Given the description of an element on the screen output the (x, y) to click on. 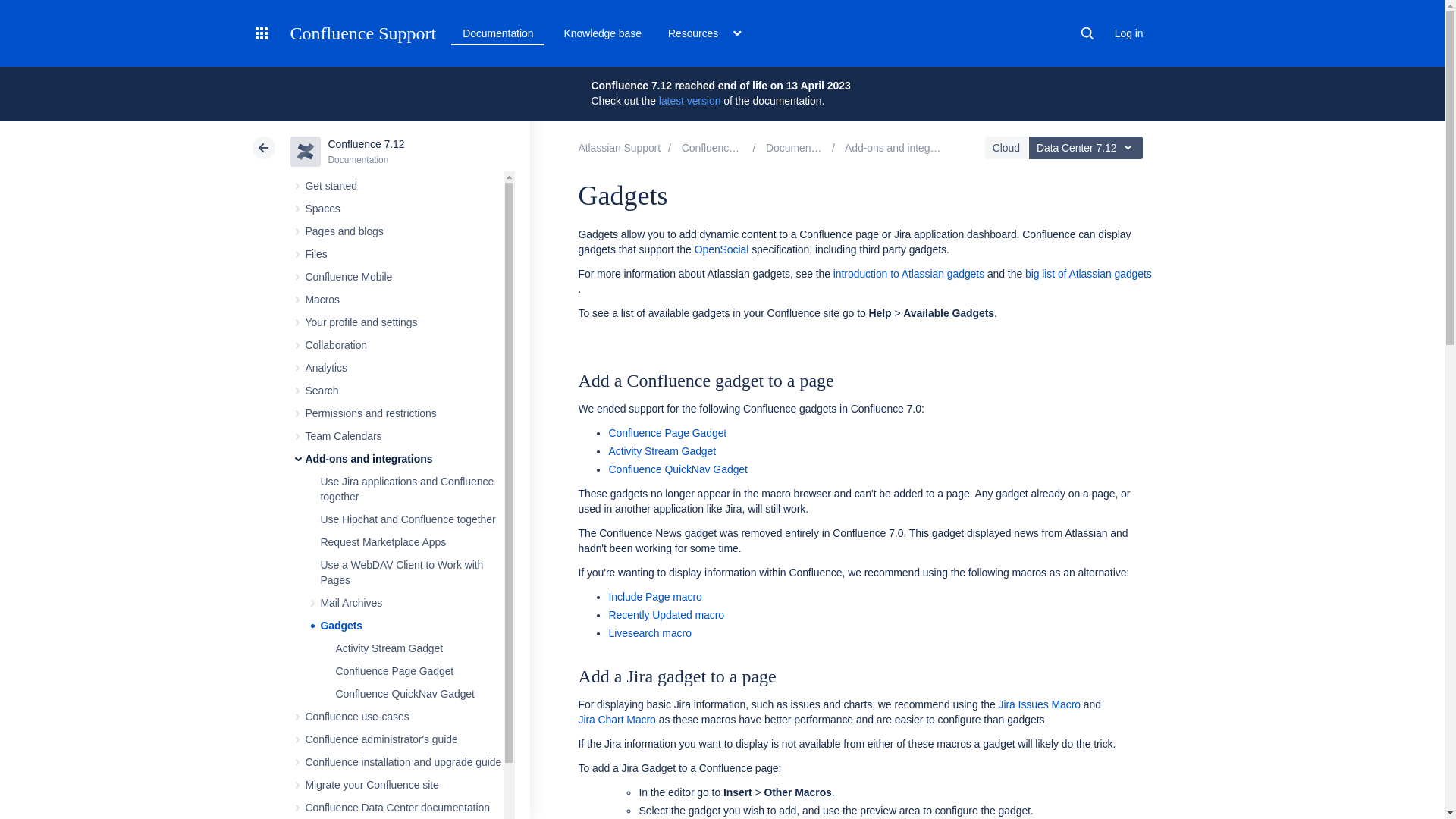
Documentation (497, 33)
Confluence Support (362, 33)
latest version (689, 101)
Atlassian Support (619, 147)
Add-ons and integrations (902, 147)
Confluence (719, 147)
Search (1087, 33)
Confluence 7.12 (800, 147)
Knowledge base (602, 33)
Log in (1128, 33)
